Given the description of an element on the screen output the (x, y) to click on. 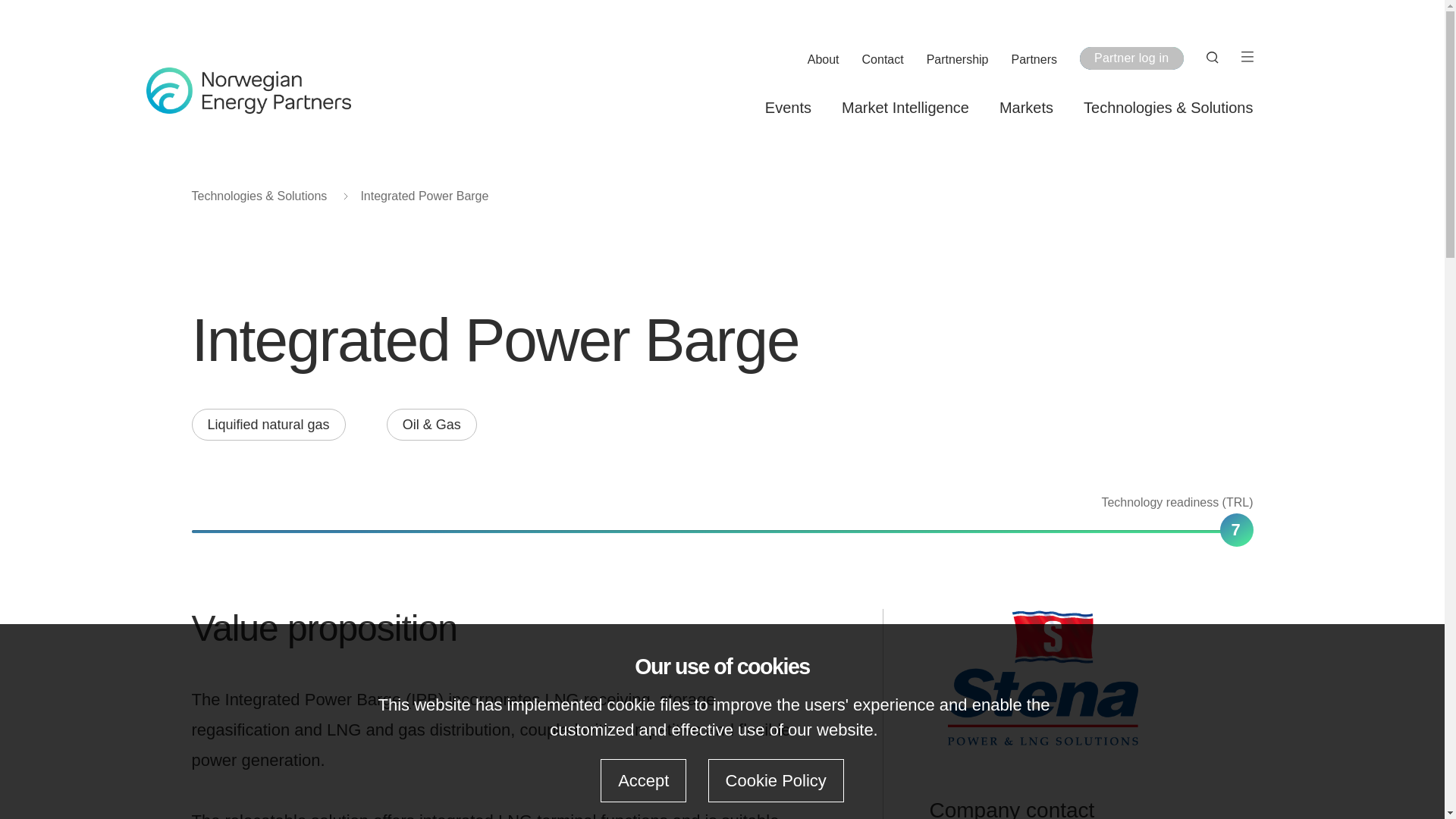
Markets (1025, 107)
Market Intelligence (905, 107)
Partner log in (1131, 57)
About (824, 60)
Contact (882, 60)
Partners (1034, 60)
Events (787, 107)
Partnership (957, 60)
